Given the description of an element on the screen output the (x, y) to click on. 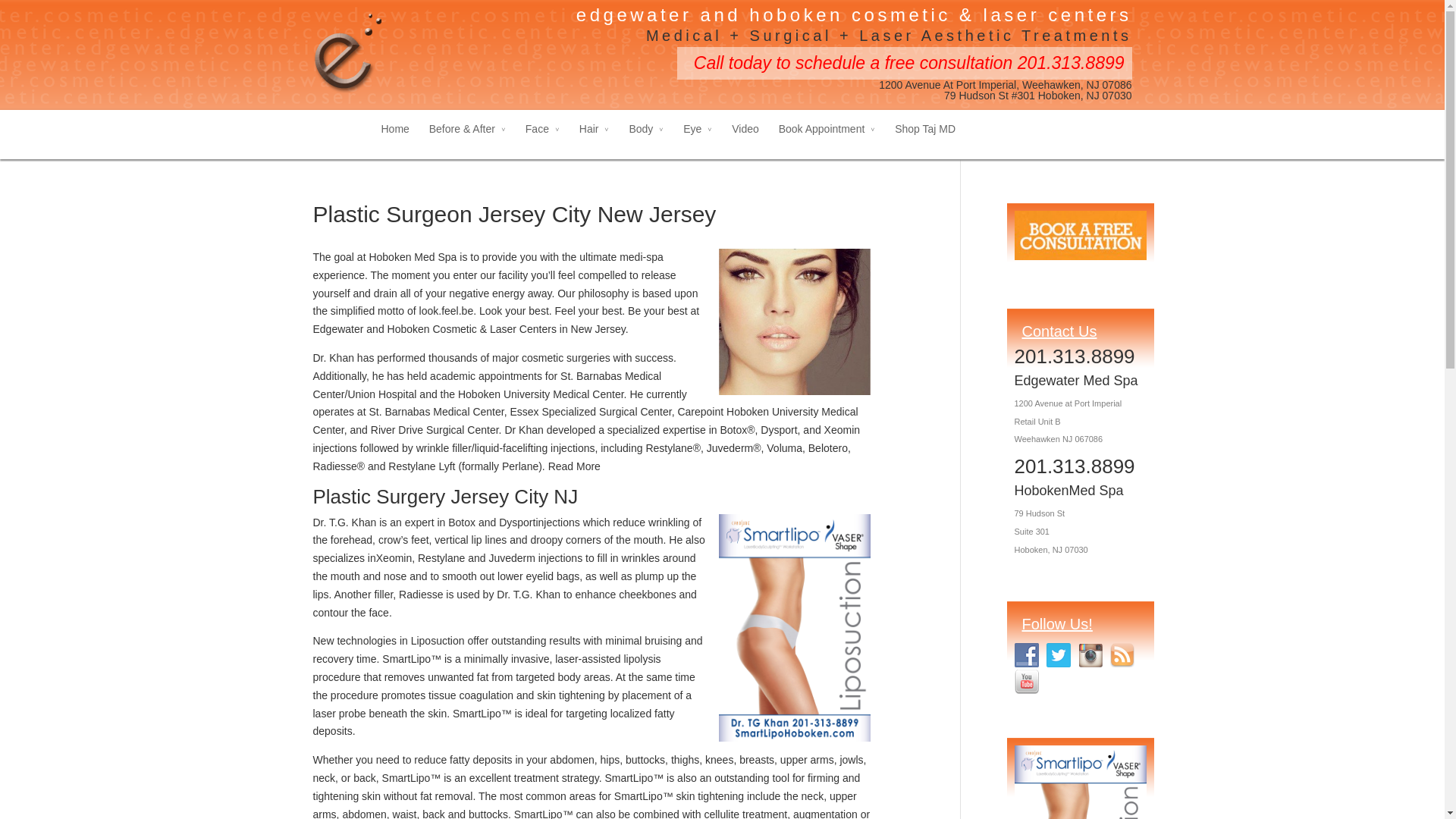
Follow Us on Twitter (1058, 654)
Follow Us on YouTube (1026, 681)
Face (542, 140)
Follow Us on RSS (1121, 654)
Follow Us on Instagram (1090, 654)
Follow Us on Facebook (1026, 654)
